Given the description of an element on the screen output the (x, y) to click on. 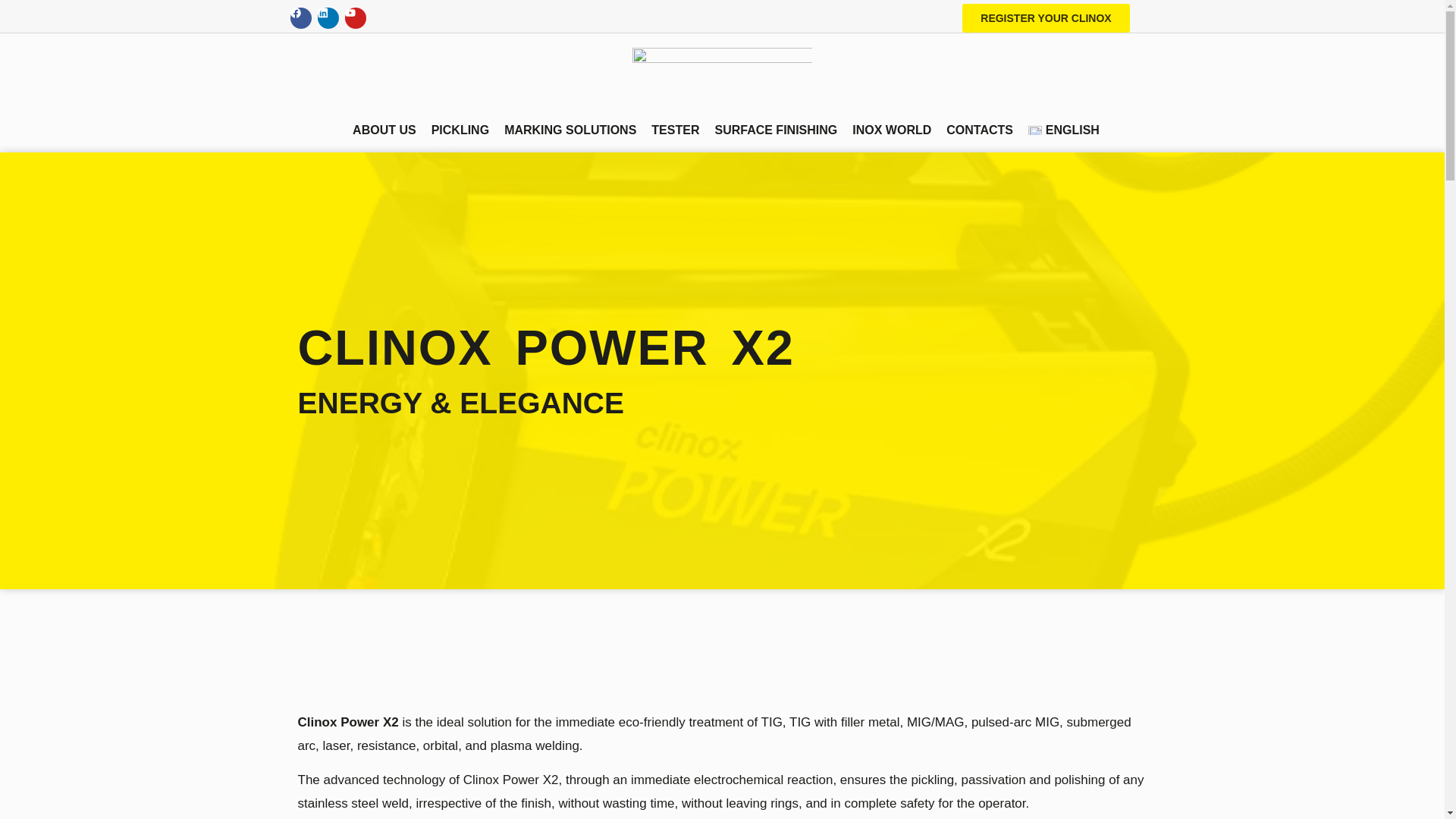
PICKLING (459, 130)
INOX WORLD (891, 130)
English (1063, 130)
SURFACE FINISHING (775, 130)
ENGLISH (1063, 130)
MARKING SOLUTIONS (569, 130)
REGISTER YOUR CLINOX (1045, 18)
TESTER (674, 130)
CONTACTS (979, 130)
ABOUT US (384, 130)
